Given the description of an element on the screen output the (x, y) to click on. 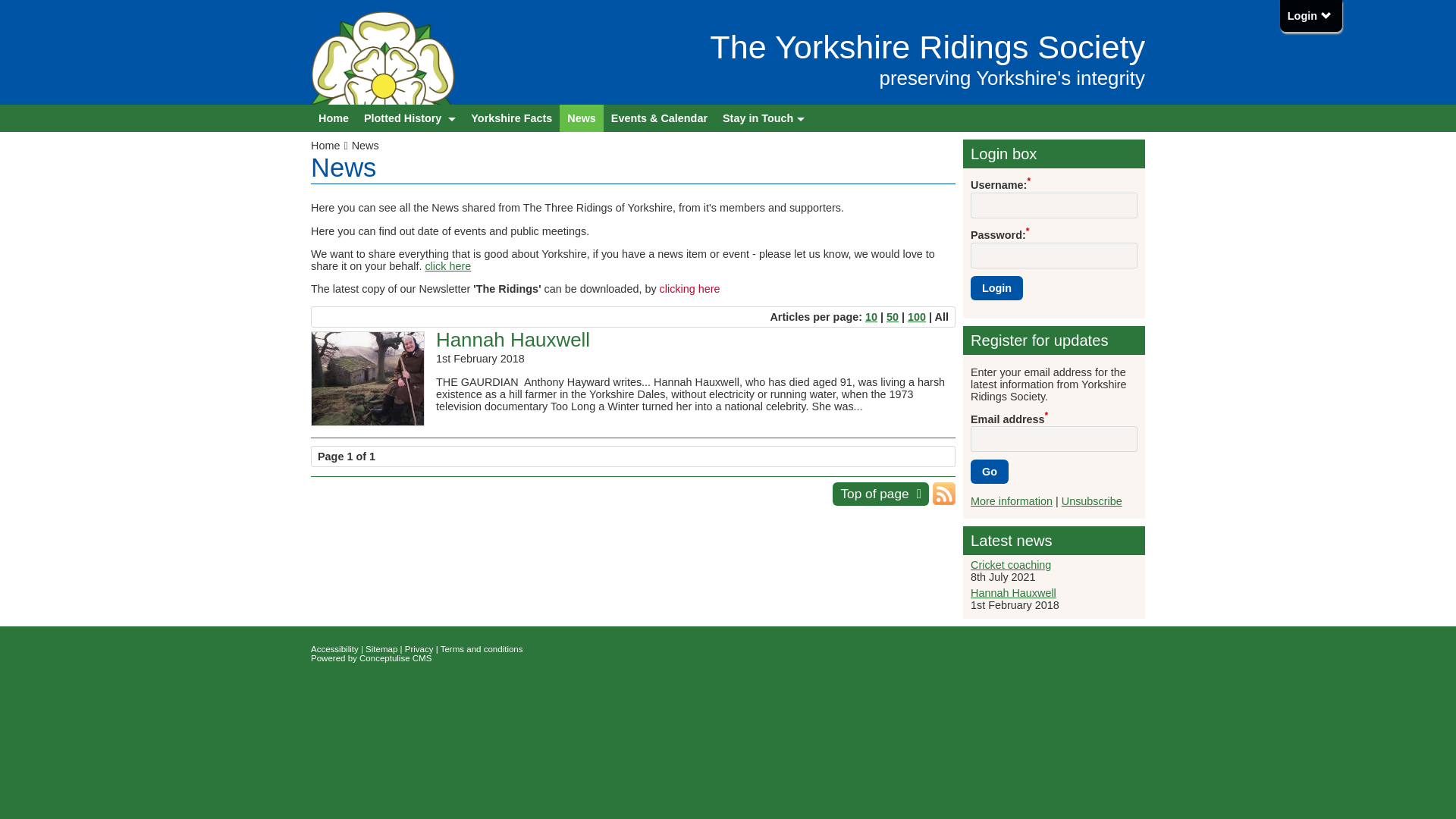
Website privacy statement (418, 648)
Home (333, 117)
Plotted History (409, 117)
Home (331, 145)
Stay in Touch (763, 117)
News (365, 145)
Yorkshire Facts (511, 117)
Login (1309, 15)
Hannah Hauxwell (512, 339)
Yorkshire Ridings Society homepage (333, 117)
